Given the description of an element on the screen output the (x, y) to click on. 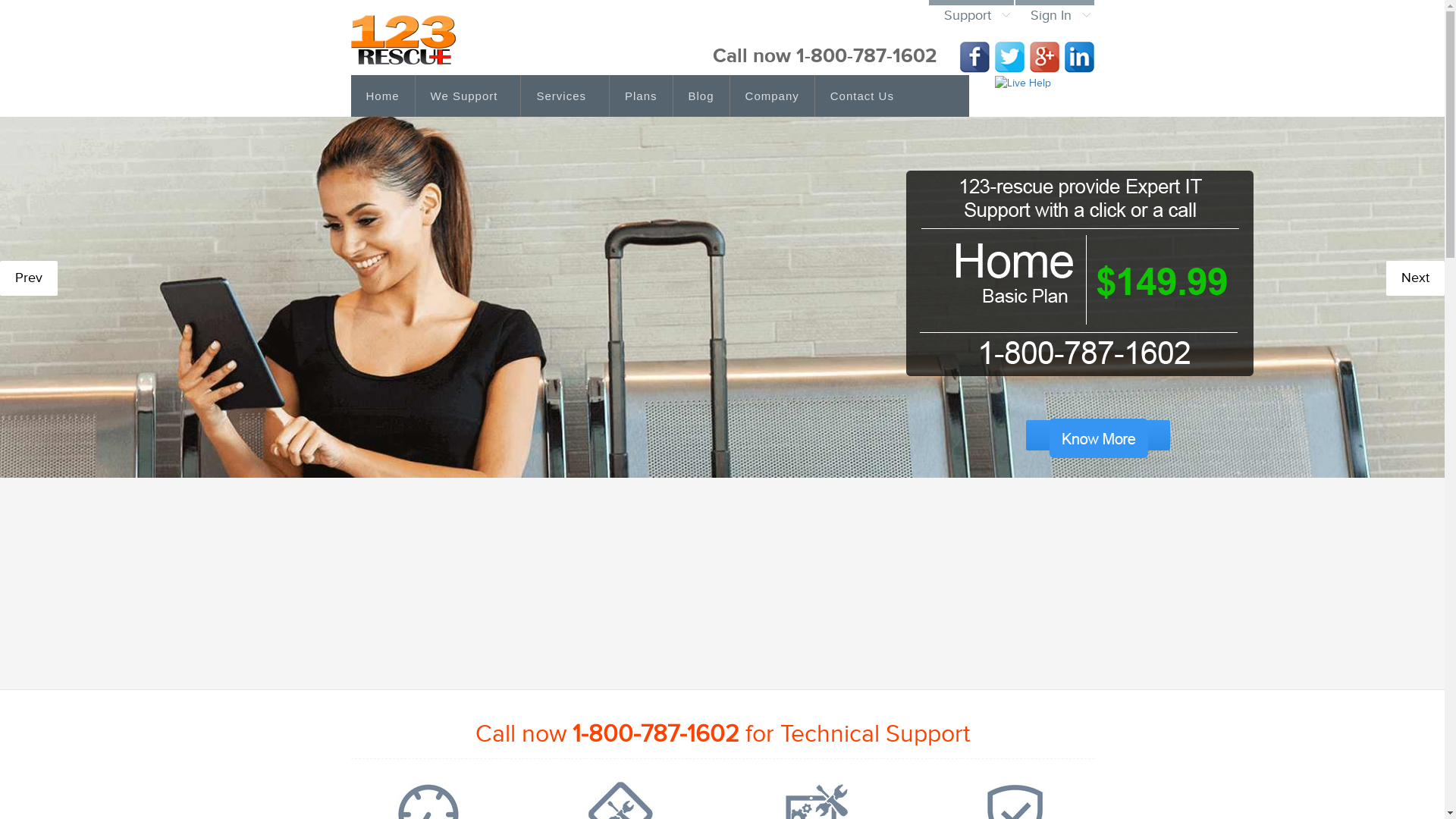
Home Element type: text (382, 95)
Company Element type: text (772, 95)
Advertisement Element type: hover (721, 571)
Contact Us Element type: text (862, 95)
Support Element type: text (970, 14)
Next Element type: text (1415, 277)
Prev Element type: text (28, 277)
Services Element type: text (564, 95)
Sign In Element type: text (1053, 14)
We Support Element type: text (468, 95)
Plans Element type: text (641, 95)
Blog Element type: text (701, 95)
